Given the description of an element on the screen output the (x, y) to click on. 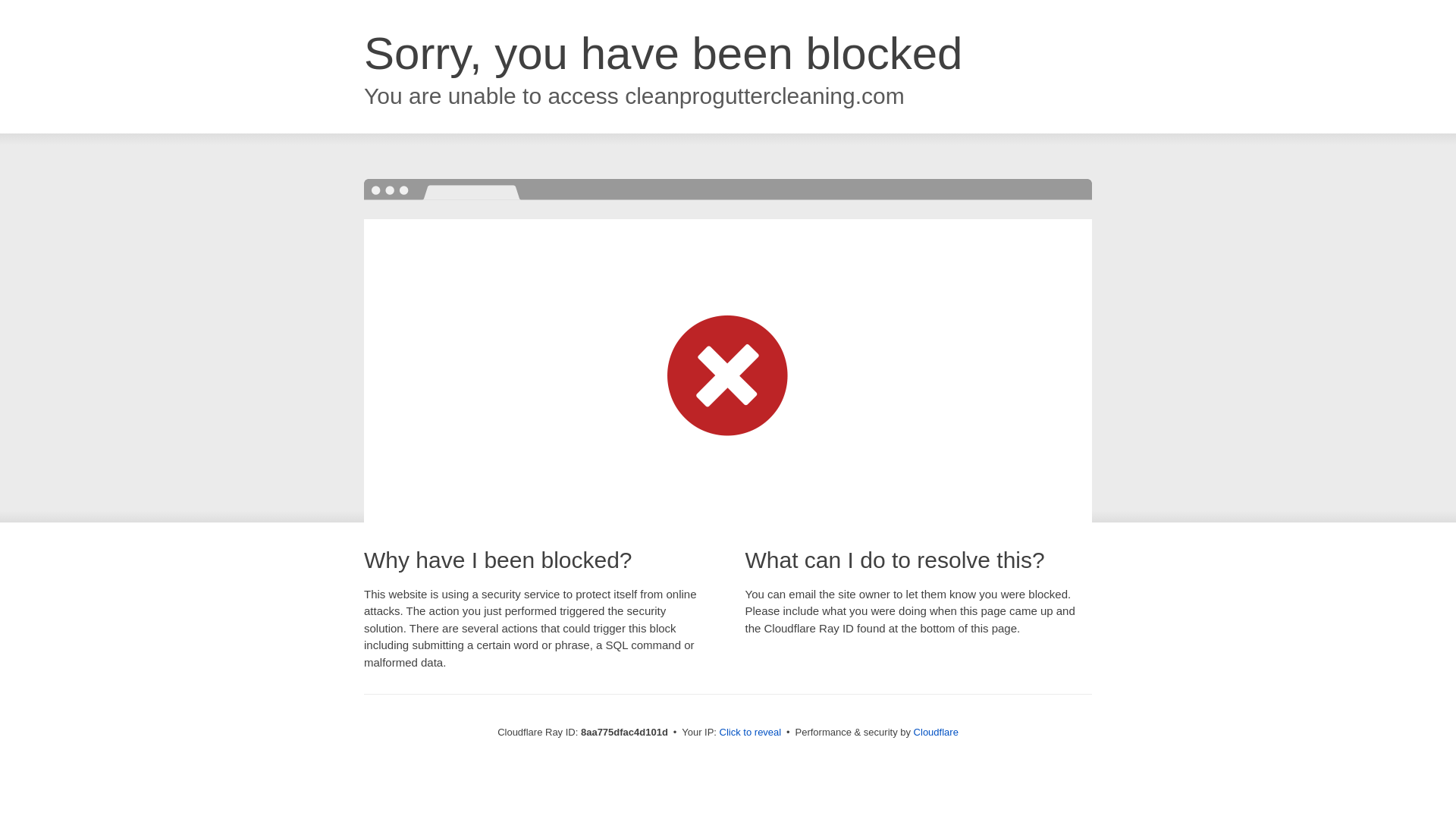
Click to reveal (750, 732)
Cloudflare (936, 731)
